Given the description of an element on the screen output the (x, y) to click on. 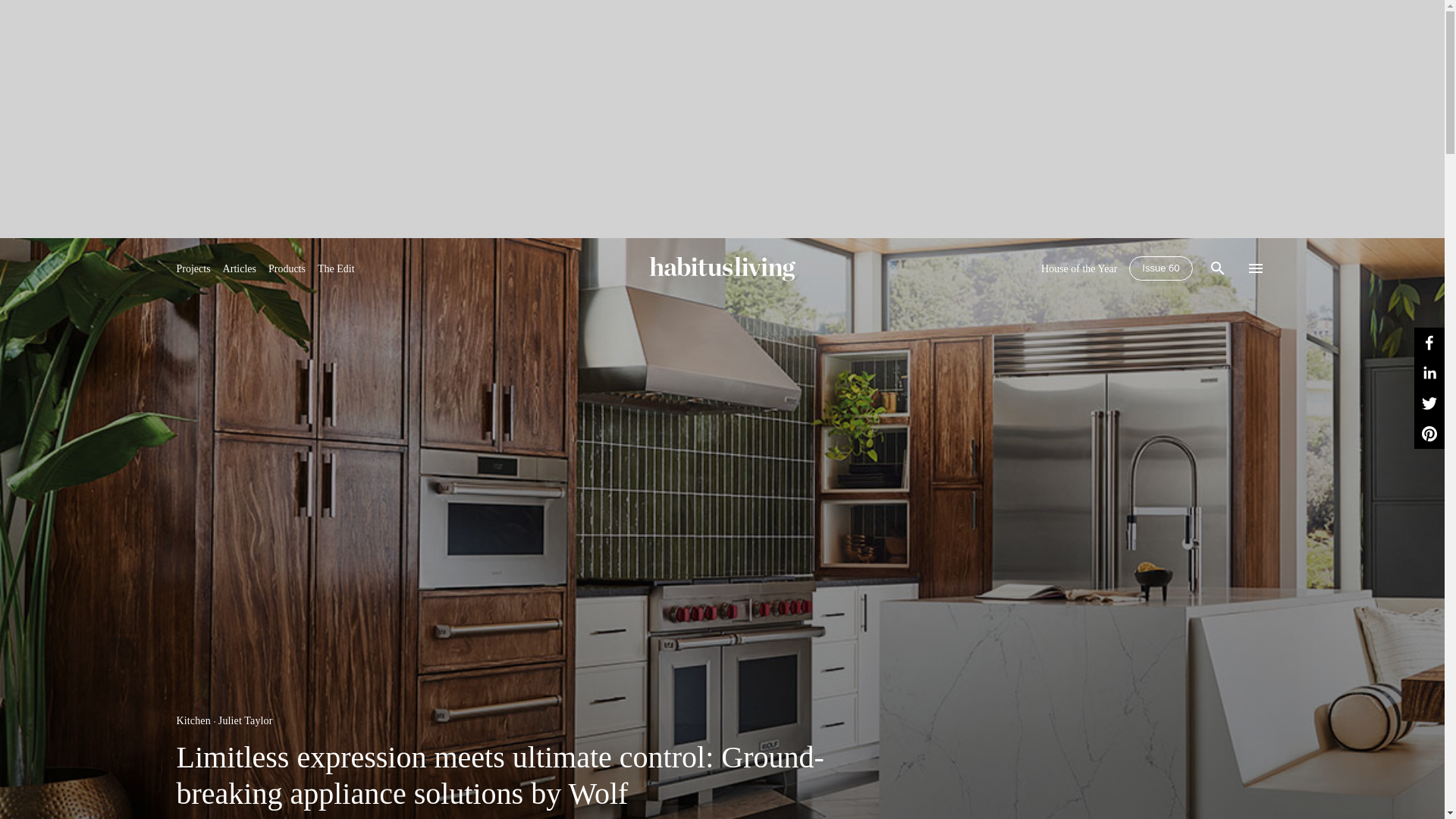
House of the Year (1078, 268)
The Edit (336, 268)
Products (286, 268)
Skip To Main Content (722, 268)
Juliet Taylor (245, 720)
Kitchen (192, 720)
Articles (239, 268)
Projects (192, 268)
Issue 60 (1160, 268)
